Given the description of an element on the screen output the (x, y) to click on. 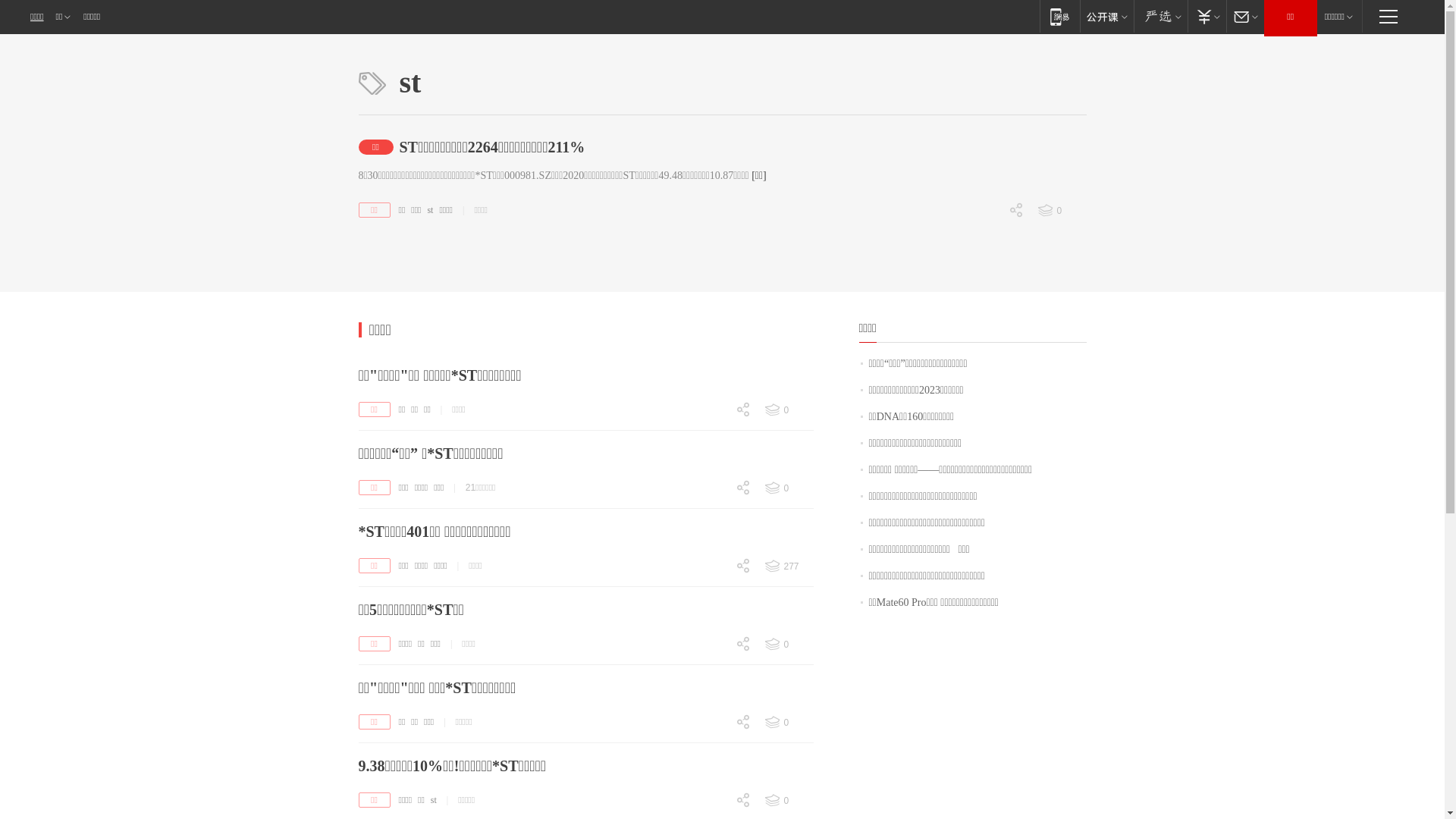
0 Element type: text (712, 593)
0 Element type: text (712, 748)
0 Element type: text (712, 592)
0 Element type: text (712, 514)
st Element type: text (429, 209)
0 Element type: text (787, 800)
0 Element type: text (712, 670)
277 Element type: text (787, 566)
0 Element type: text (712, 567)
0 Element type: text (712, 671)
0 Element type: text (985, 236)
0 Element type: text (712, 515)
0 Element type: text (985, 289)
0 Element type: text (787, 722)
0 Element type: text (712, 489)
0 Element type: text (712, 645)
st Element type: text (433, 799)
0 Element type: text (985, 316)
0 Element type: text (712, 436)
0 Element type: text (712, 723)
0 Element type: text (712, 801)
0 Element type: text (1060, 210)
0 Element type: text (787, 488)
0 Element type: text (712, 749)
0 Element type: text (787, 644)
0 Element type: text (787, 409)
